Given the description of an element on the screen output the (x, y) to click on. 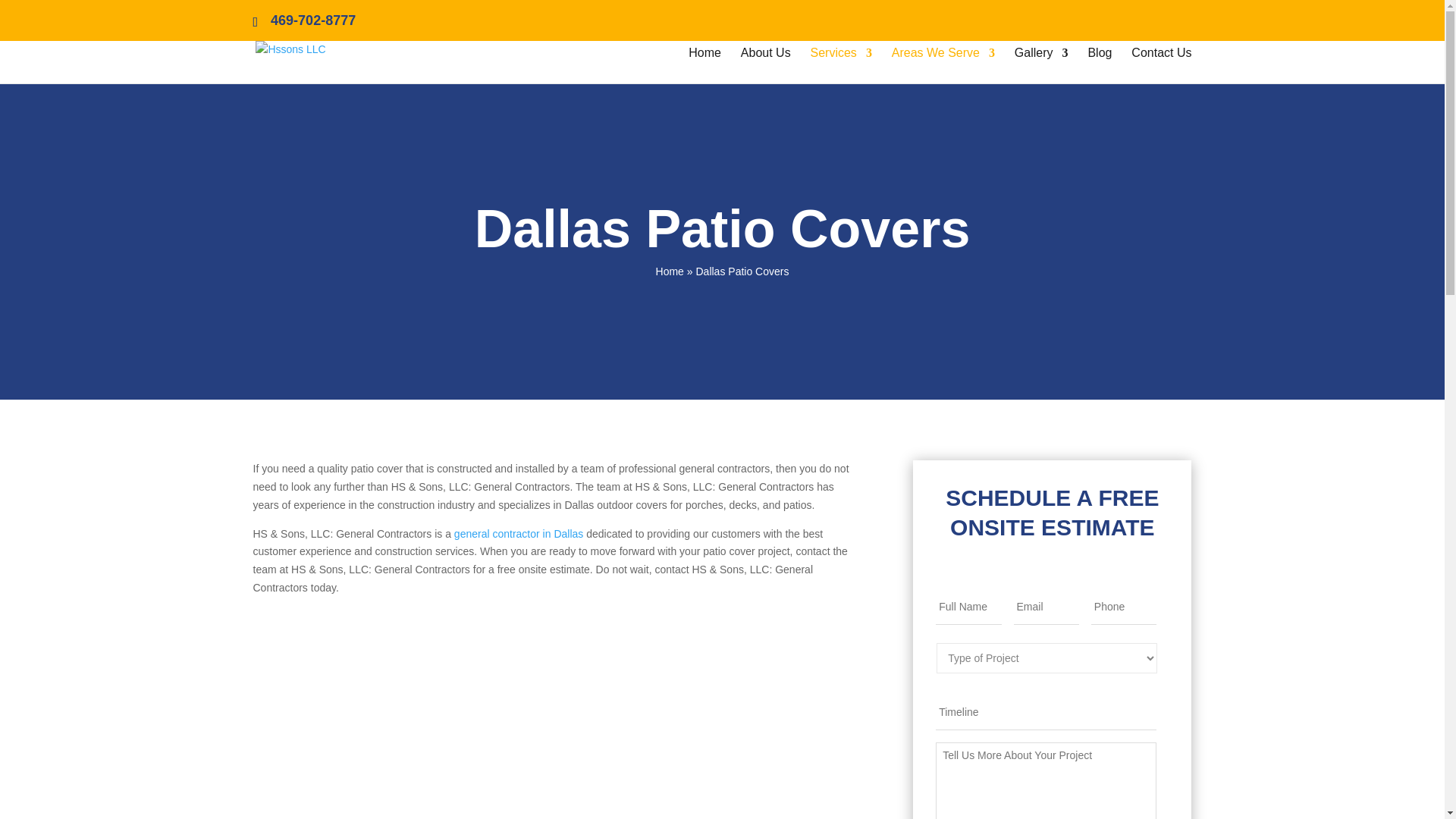
469-702-8777 (307, 20)
Areas We Serve (942, 65)
Services (841, 65)
Large Terrace Patio (557, 721)
General Contractor In Dallas (518, 533)
About Us (765, 65)
Home (704, 65)
